Given the description of an element on the screen output the (x, y) to click on. 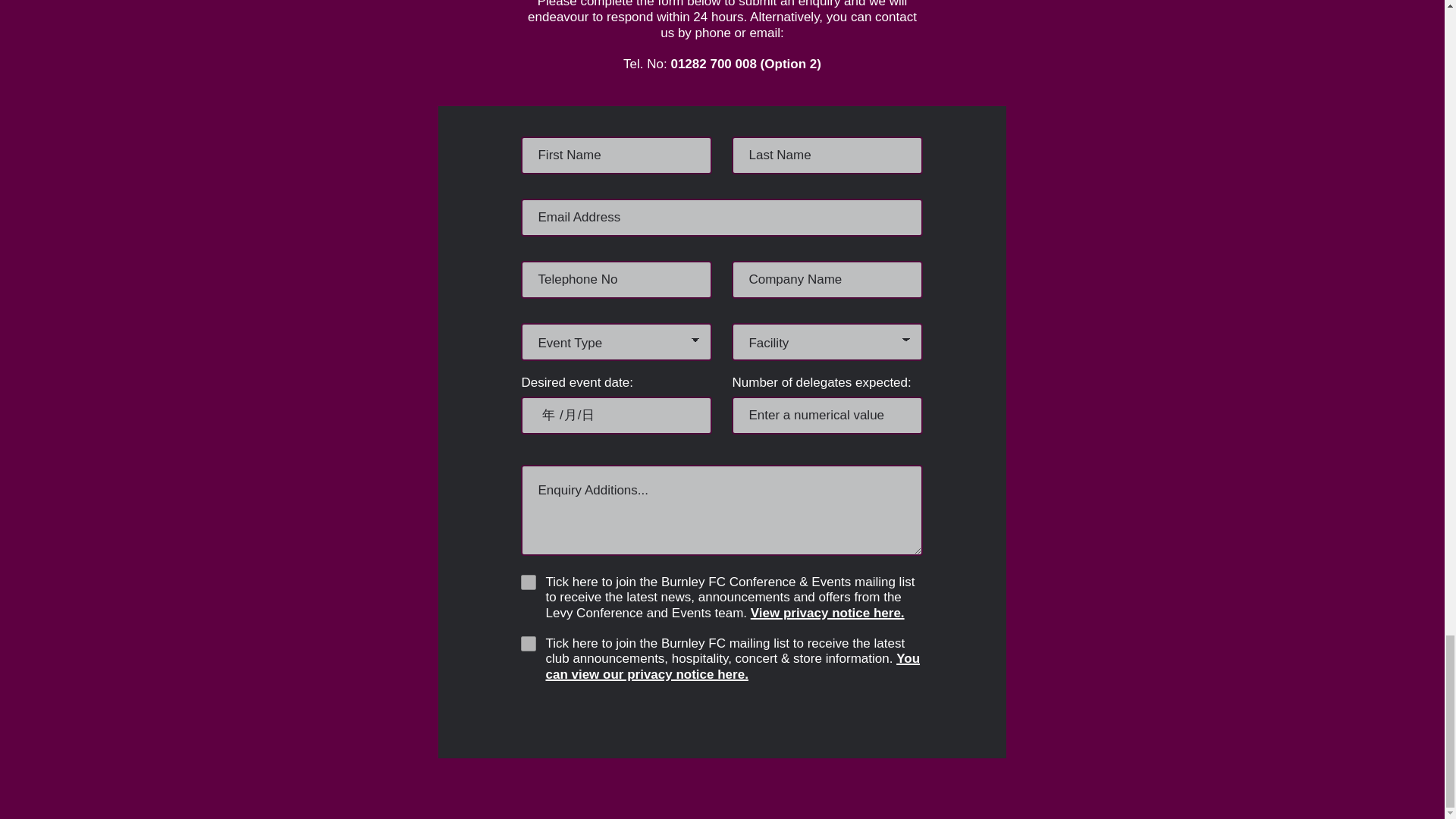
on (528, 643)
on (528, 581)
